Given the description of an element on the screen output the (x, y) to click on. 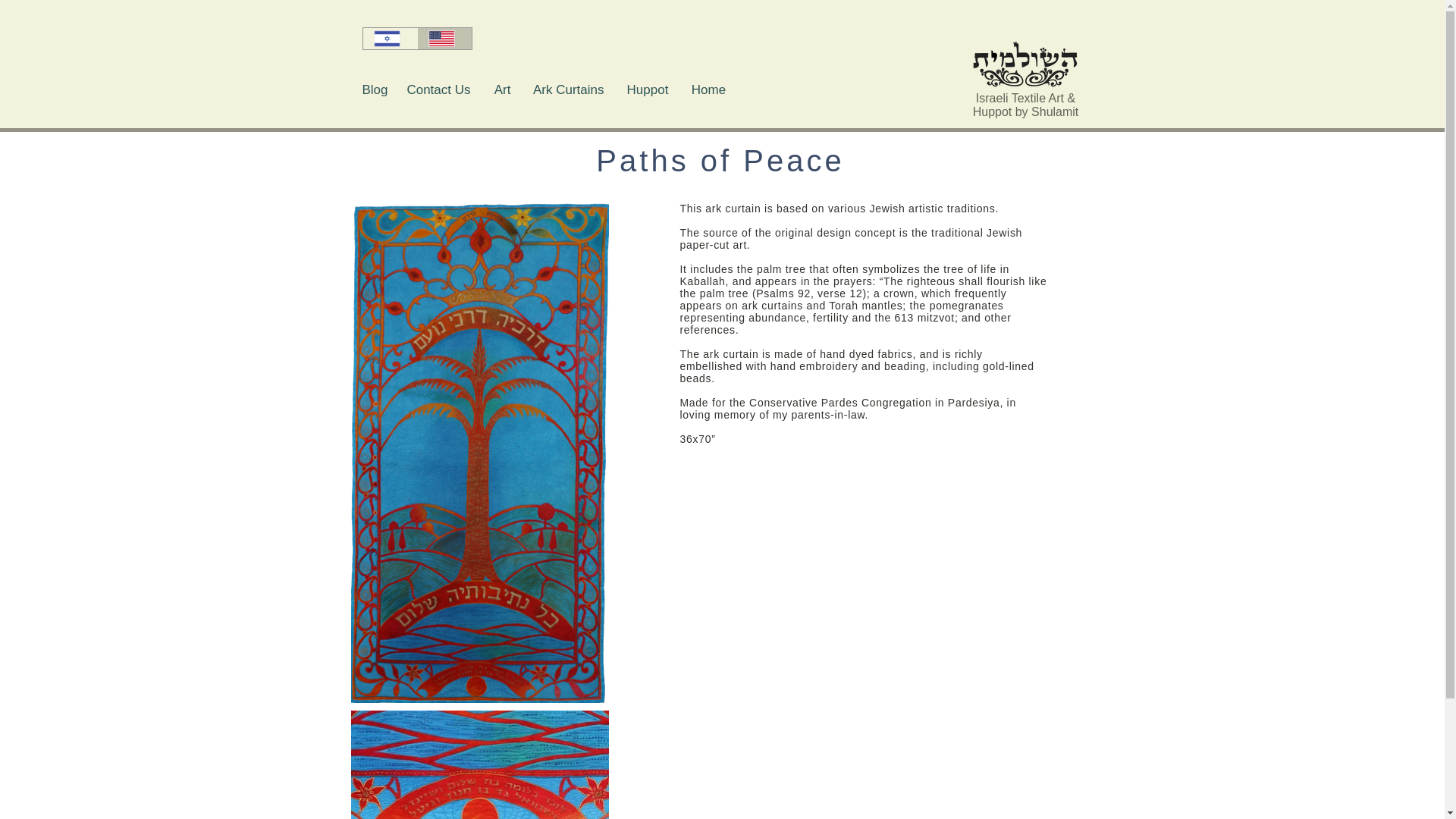
Huppot (647, 90)
Blog (374, 90)
Ark Curtains (568, 90)
Home (707, 90)
Contact Us (439, 90)
Art (501, 90)
